Given the description of an element on the screen output the (x, y) to click on. 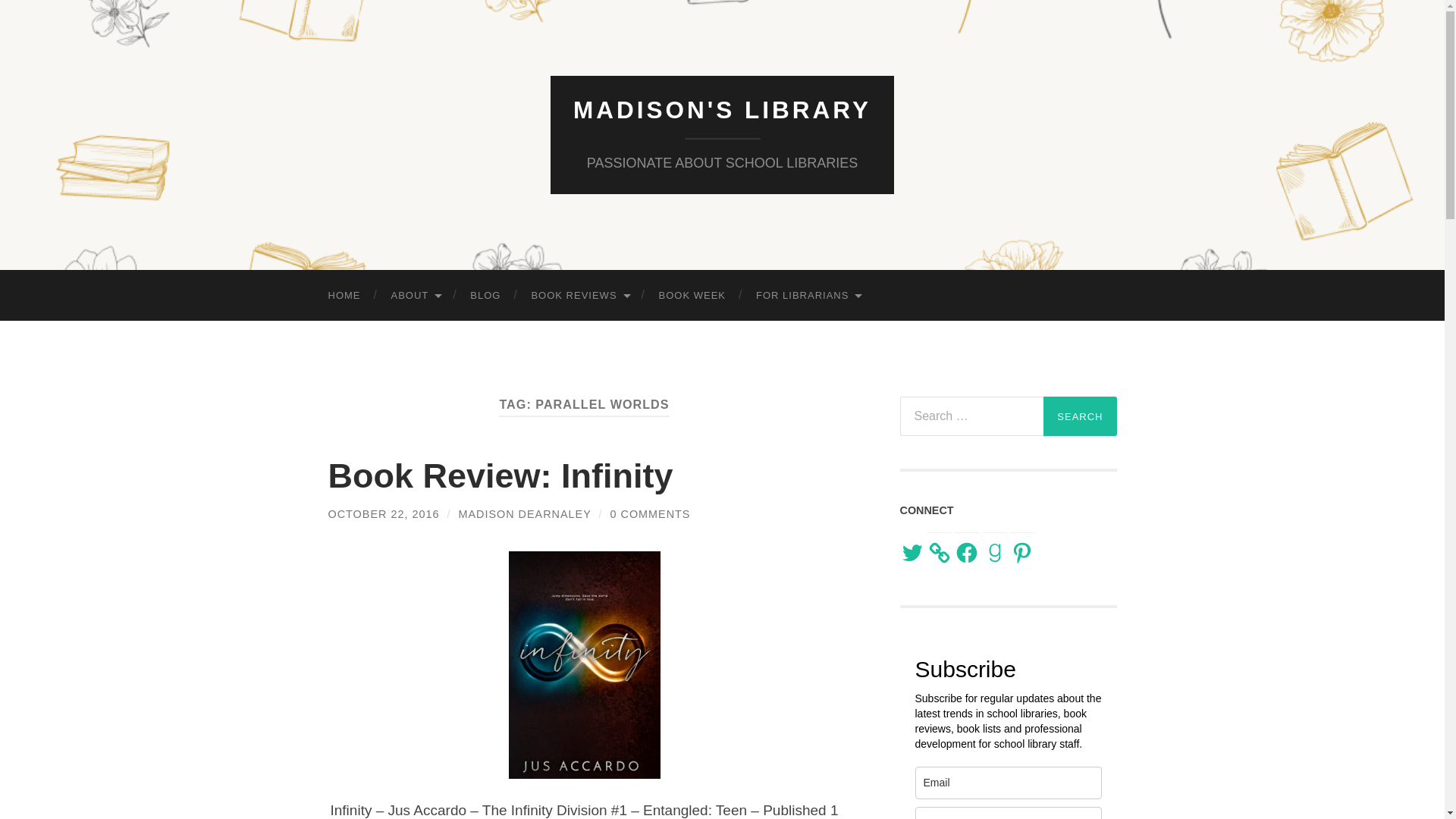
Search (1079, 415)
BOOK REVIEWS (579, 295)
MADISON'S LIBRARY (721, 109)
ABOUT (415, 295)
FOR LIBRARIANS (808, 295)
HOME (344, 295)
BOOK WEEK (692, 295)
BLOG (484, 295)
Search (1079, 415)
Posts by Madison Dearnaley (524, 513)
